Given the description of an element on the screen output the (x, y) to click on. 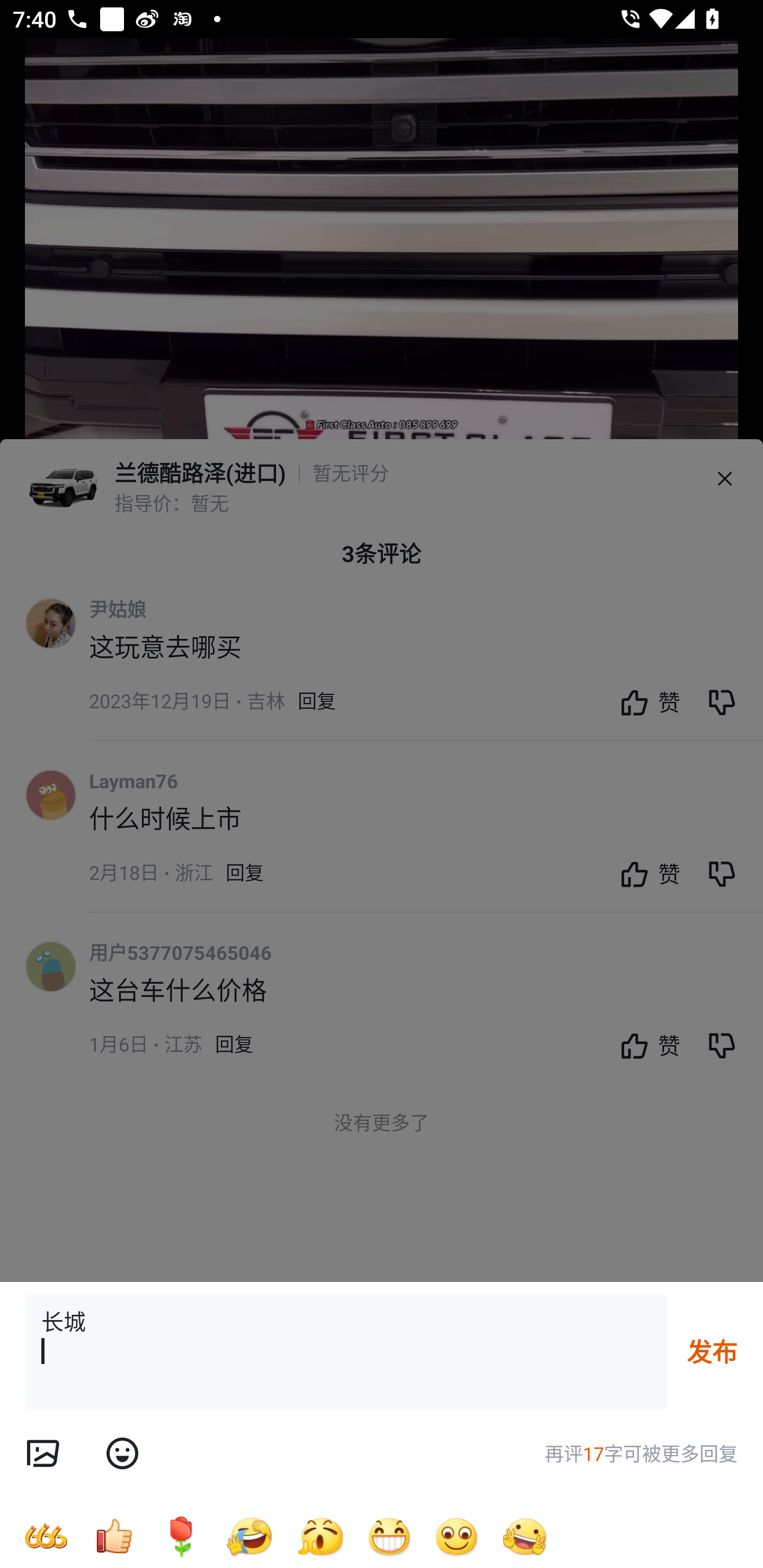
长城
 (346, 1352)
 (42, 1453)
 (122, 1453)
再评17字可被更多回复 (640, 1453)
[666] (45, 1535)
[赞] (112, 1535)
[玫瑰] (180, 1535)
[我想静静] (249, 1535)
[小鼓掌] (320, 1535)
[呲牙] (389, 1535)
[微笑] (456, 1535)
[耶] (524, 1535)
